Given the description of an element on the screen output the (x, y) to click on. 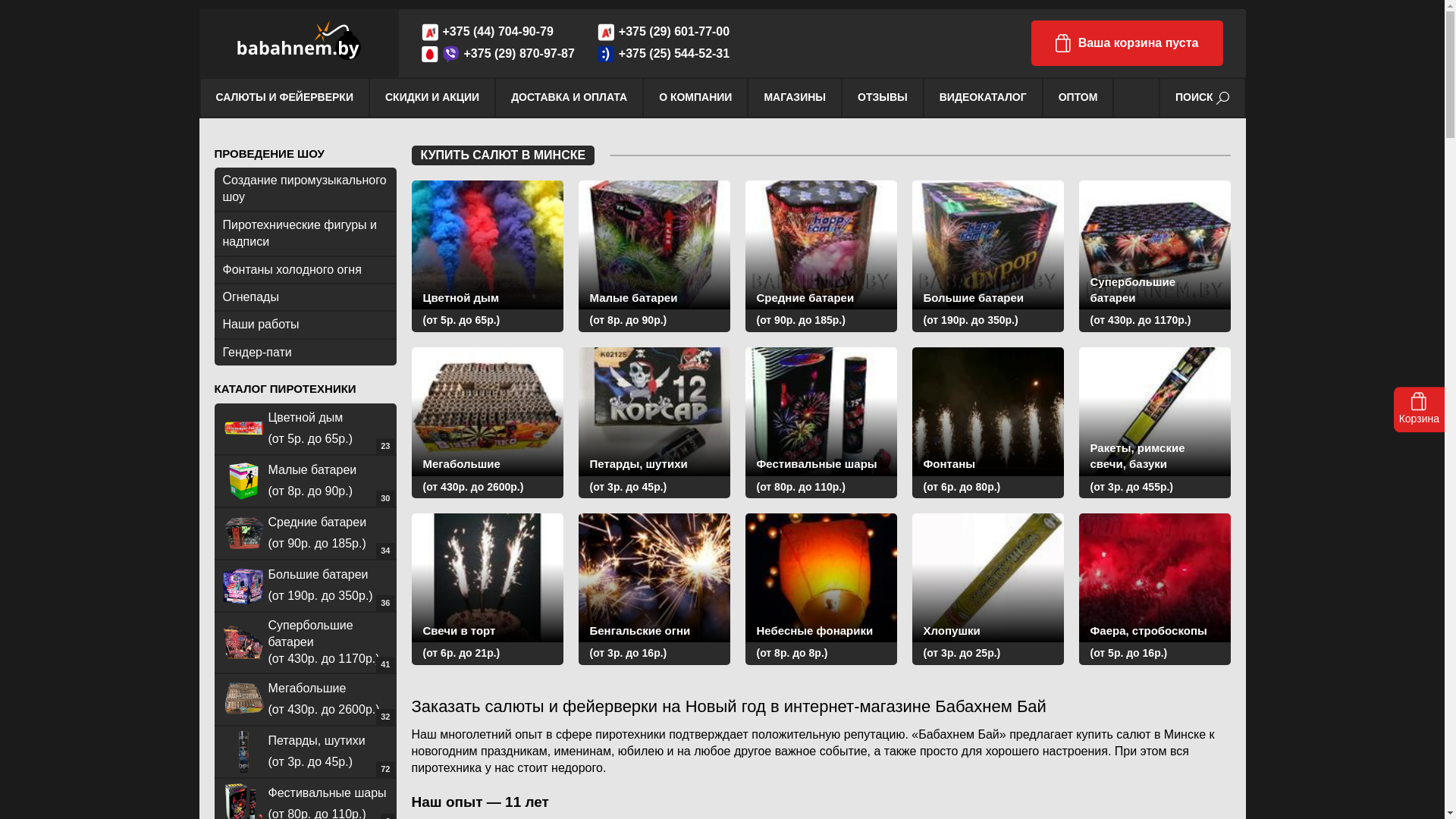
+375 (29) 601-77-00 Element type: text (673, 31)
+375 (25) 544-52-31 Element type: text (673, 53)
+375 (29) 870-97-87 Element type: text (519, 53)
Life Element type: hover (605, 53)
+375 (44) 704-90-79 Element type: text (497, 31)
A1 Element type: hover (605, 31)
A1 Element type: hover (429, 31)
Viber Element type: hover (450, 53)
